Given the description of an element on the screen output the (x, y) to click on. 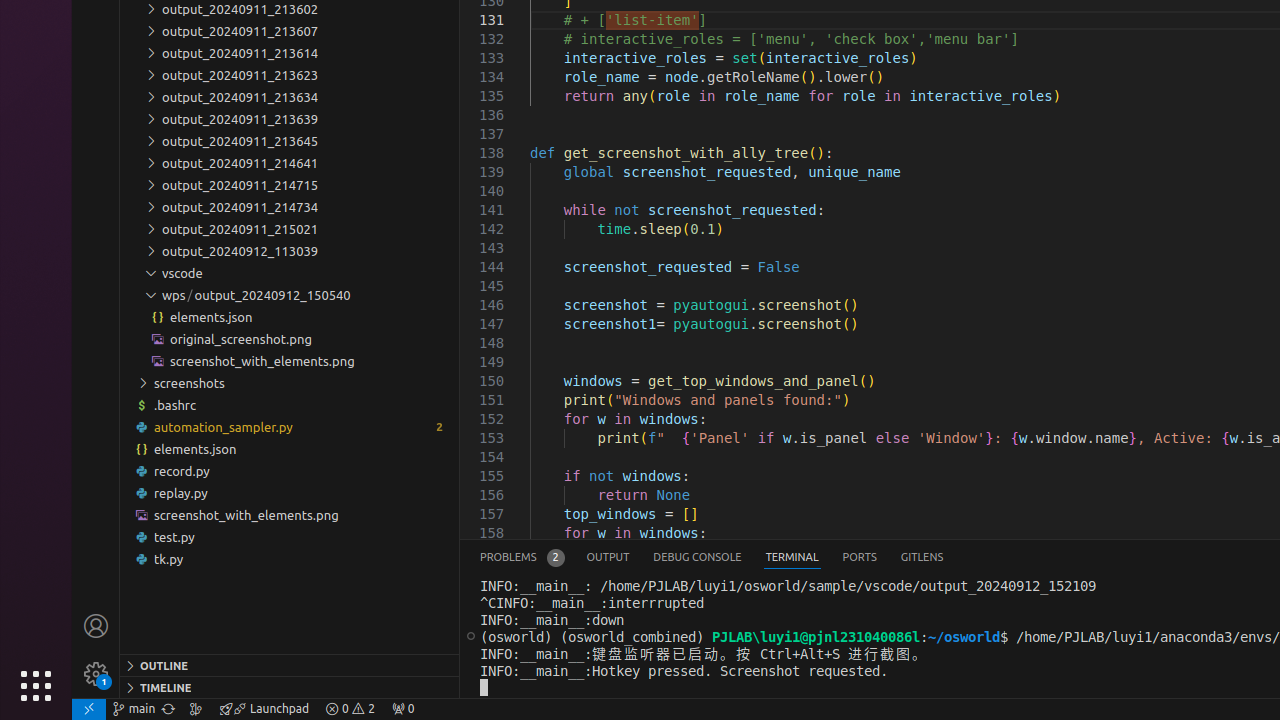
No Ports Forwarded Element type: push-button (403, 709)
output_20240911_213607 Element type: tree-item (289, 31)
output_20240912_150540 Element type: tree-item (289, 295)
Ports Element type: page-tab (859, 557)
Active View Switcher Element type: page-tab-list (712, 557)
